Given the description of an element on the screen output the (x, y) to click on. 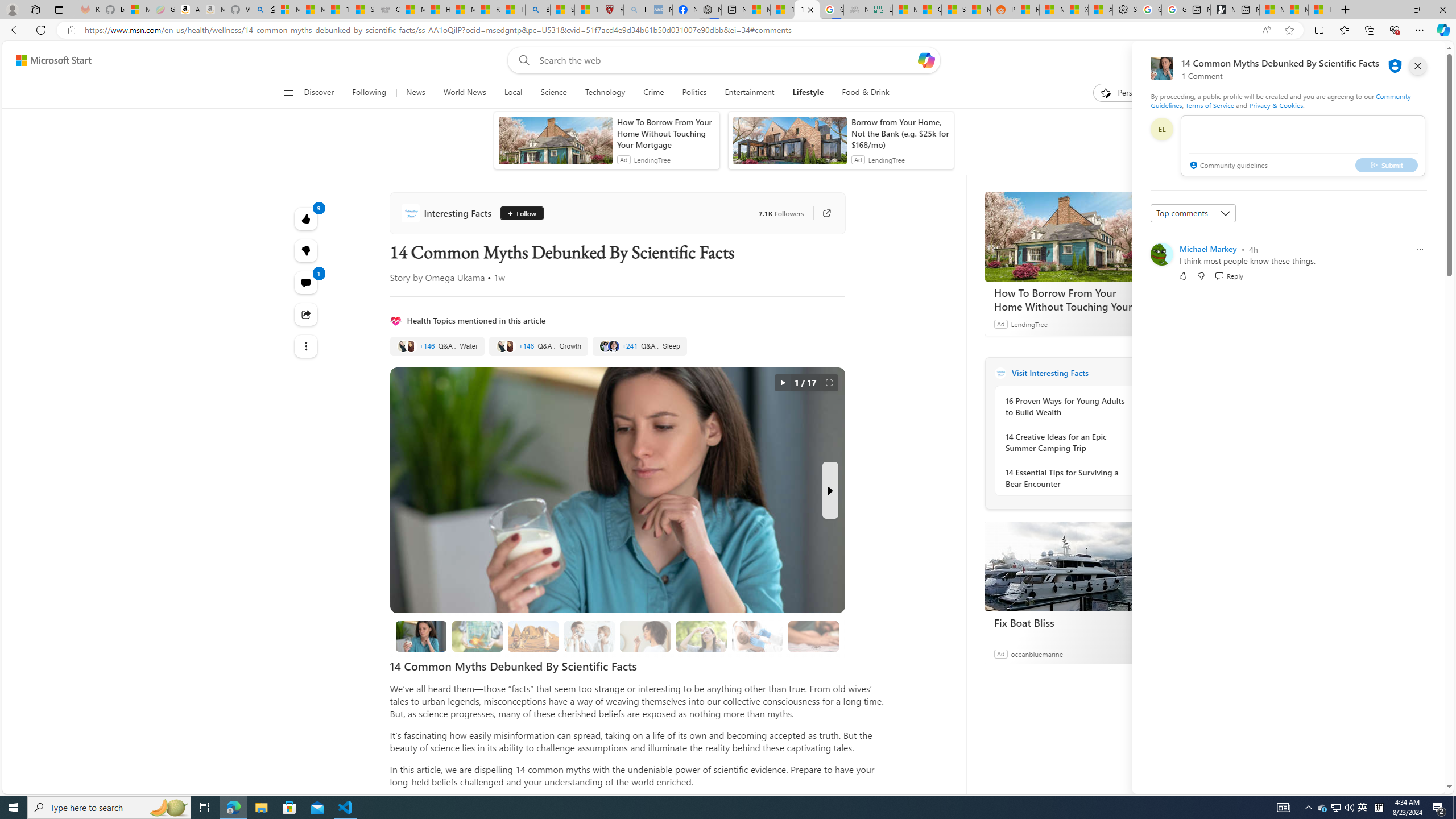
Full screen (828, 382)
1. Disposable Razors (588, 635)
autorotate button (782, 382)
Entertainment (748, 92)
Growth (538, 346)
3. Extreme Heat and Humidity (701, 636)
Sleep (639, 346)
1. Dry Mouth (644, 636)
Local (513, 92)
